Given the description of an element on the screen output the (x, y) to click on. 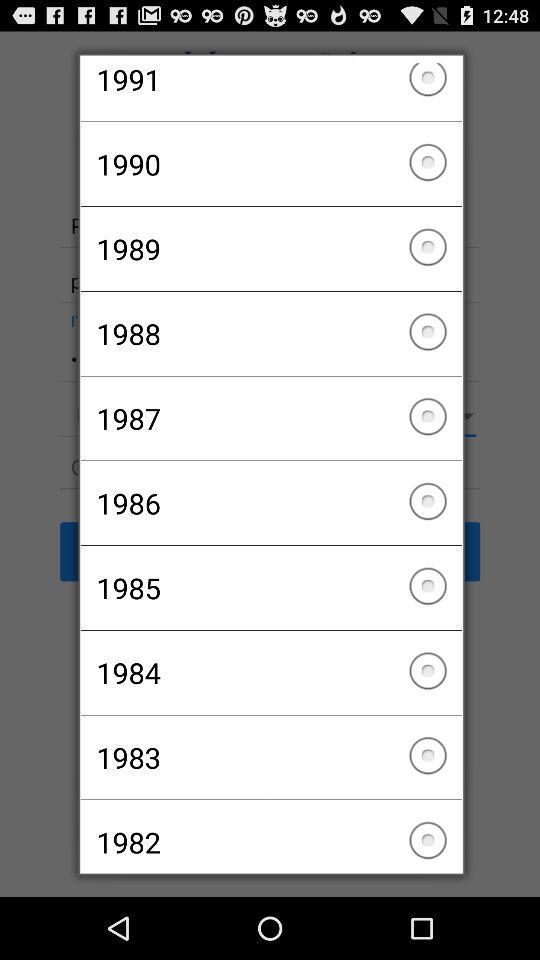
turn on 1983 icon (270, 757)
